Given the description of an element on the screen output the (x, y) to click on. 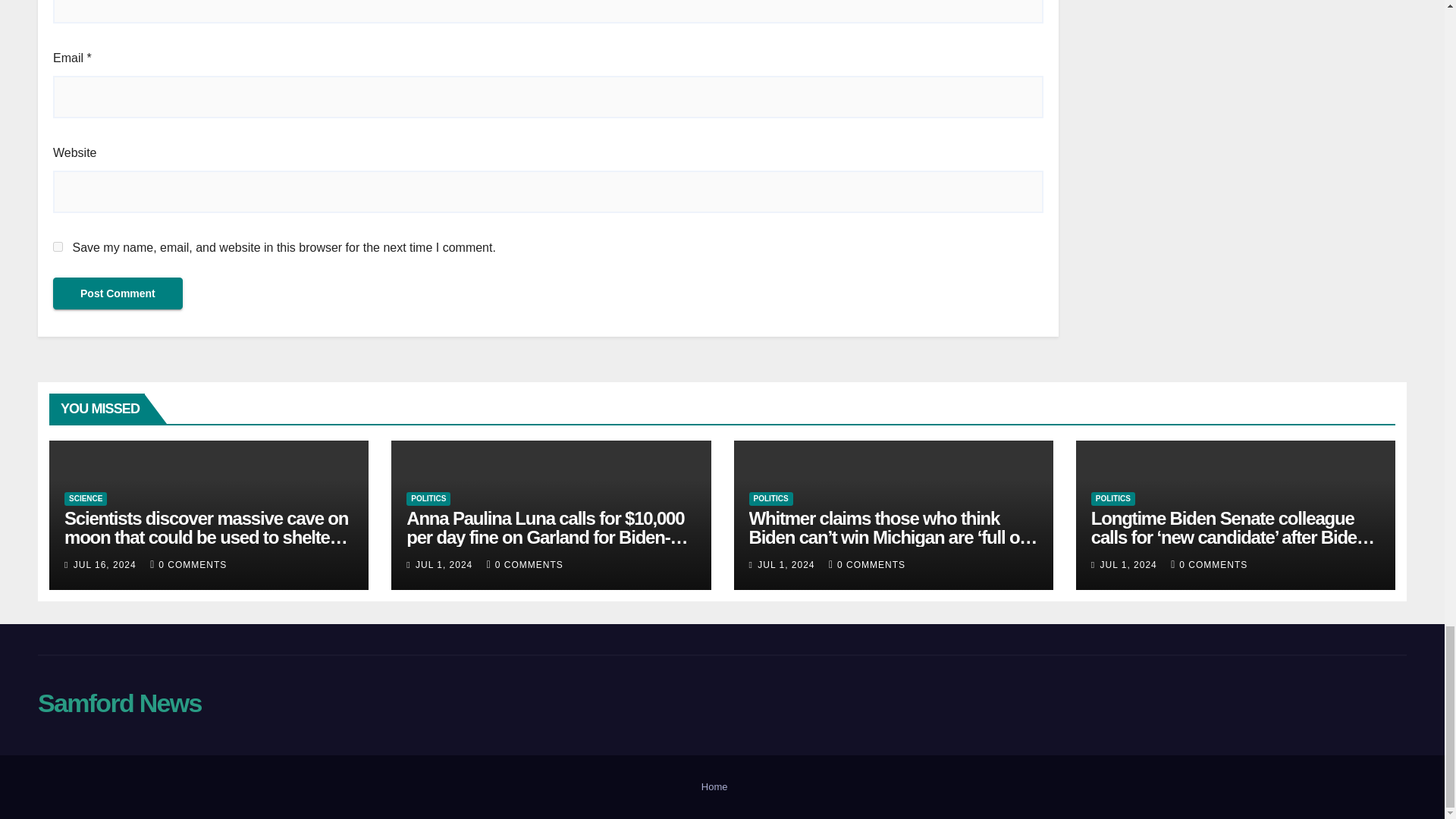
Post Comment (117, 293)
Post Comment (117, 293)
yes (57, 246)
